Given the description of an element on the screen output the (x, y) to click on. 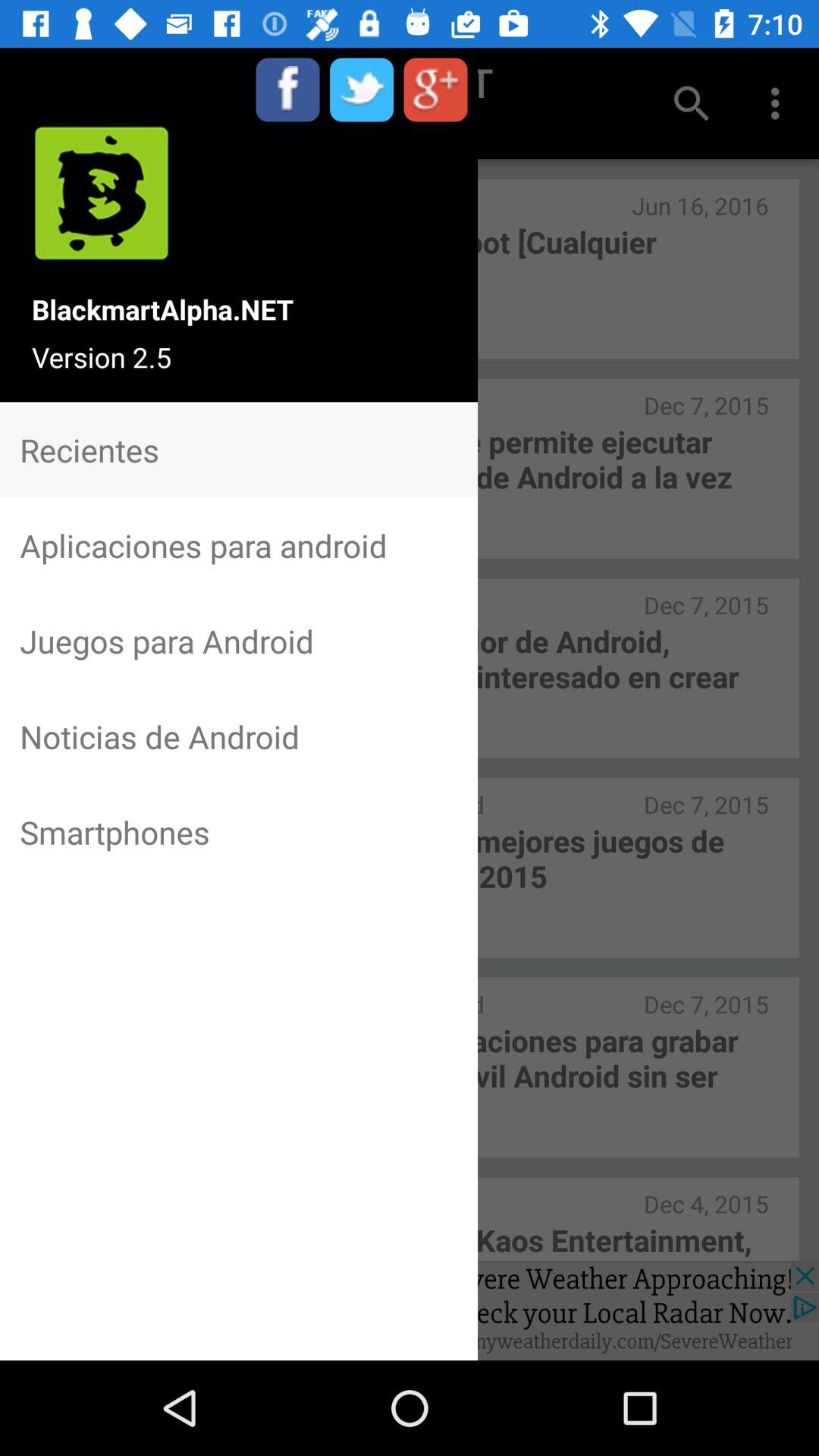
click on the button at the top right corner of the page (779, 103)
click on the button which is next to the facebook button (361, 90)
